Given the description of an element on the screen output the (x, y) to click on. 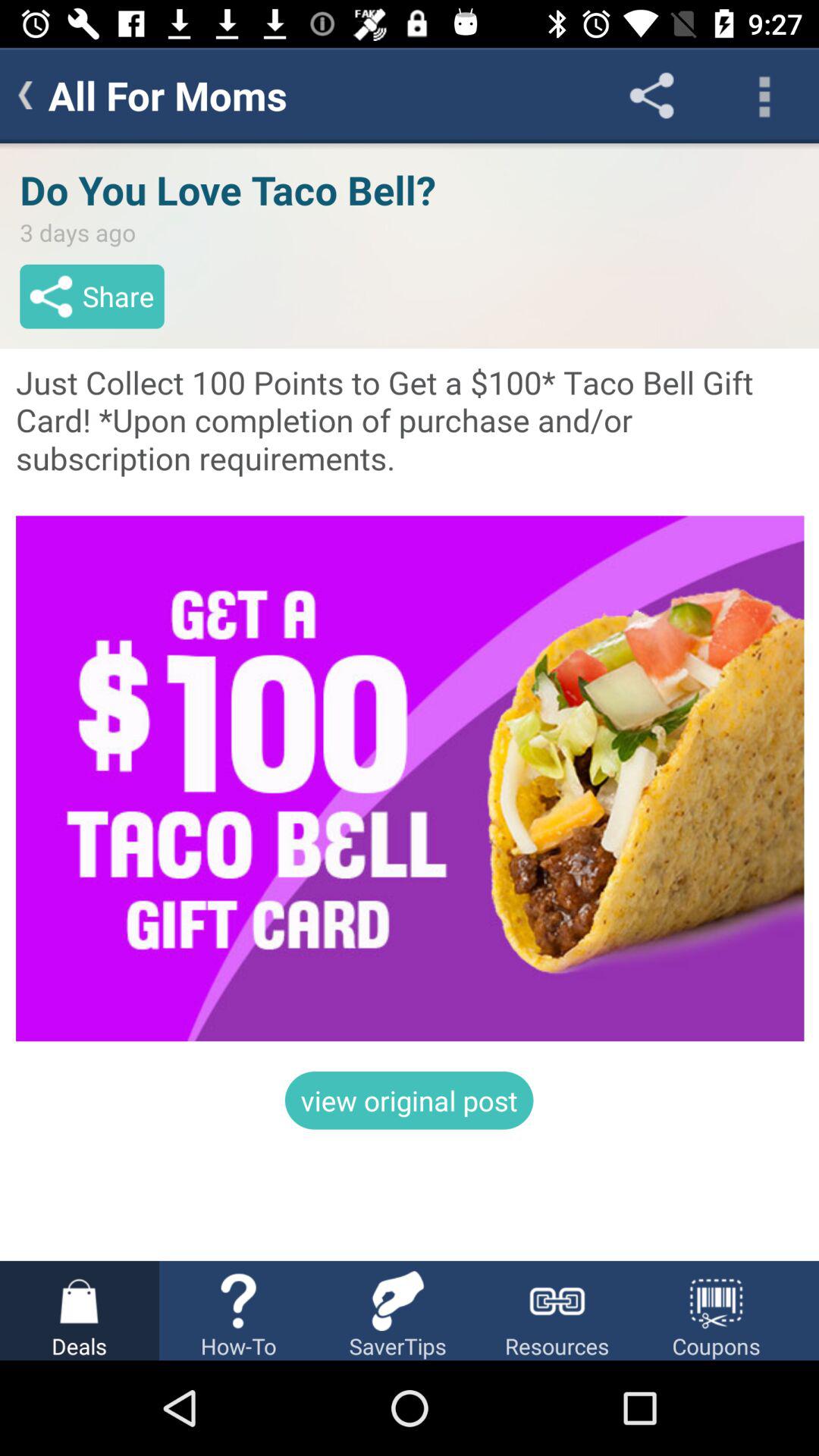
open advertisement (409, 701)
